Given the description of an element on the screen output the (x, y) to click on. 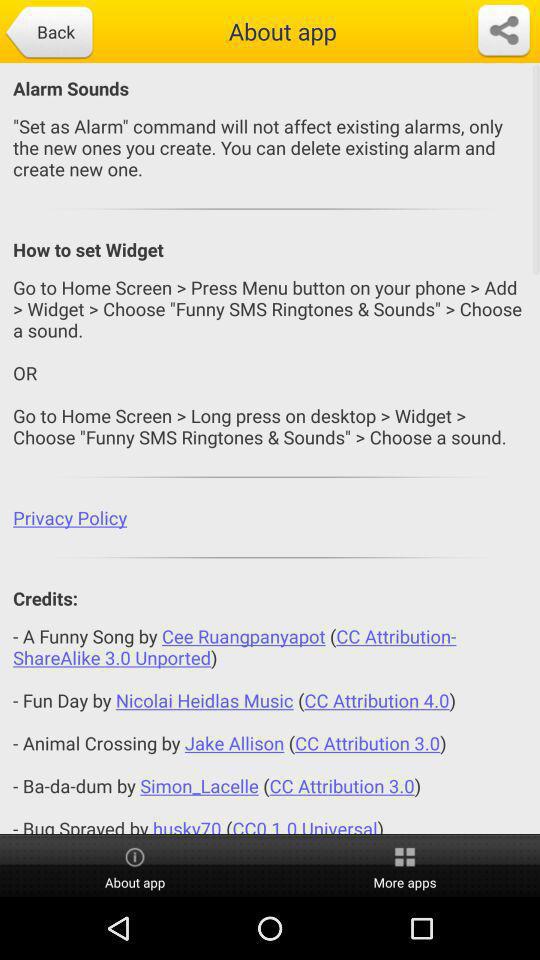
choose icon next to the about app item (503, 31)
